Given the description of an element on the screen output the (x, y) to click on. 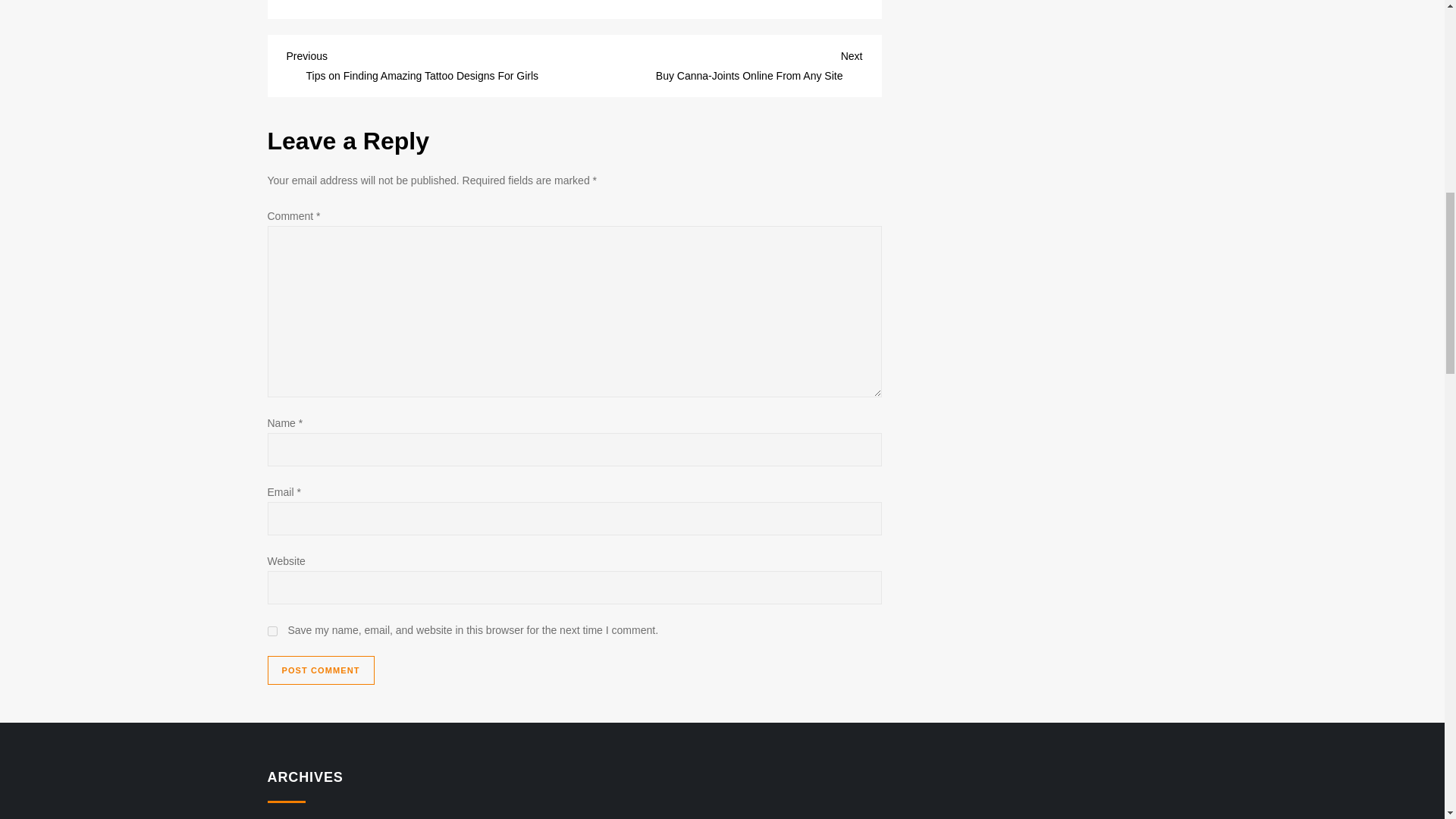
Post Comment (719, 63)
Post Comment (320, 670)
GAMES (320, 670)
yes (313, 0)
